Given the description of an element on the screen output the (x, y) to click on. 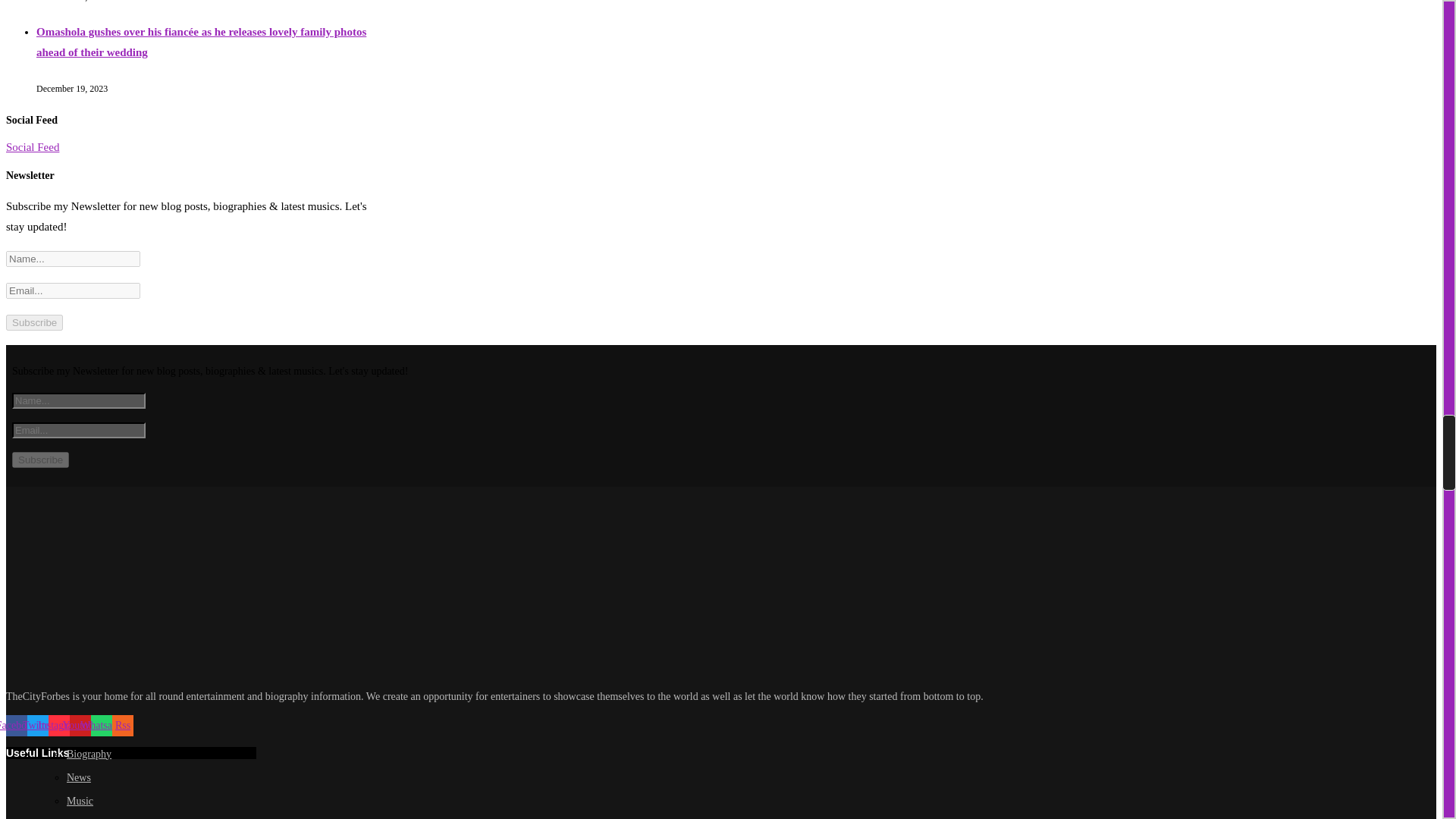
Subscribe (39, 459)
Subscribe (33, 322)
